Given the description of an element on the screen output the (x, y) to click on. 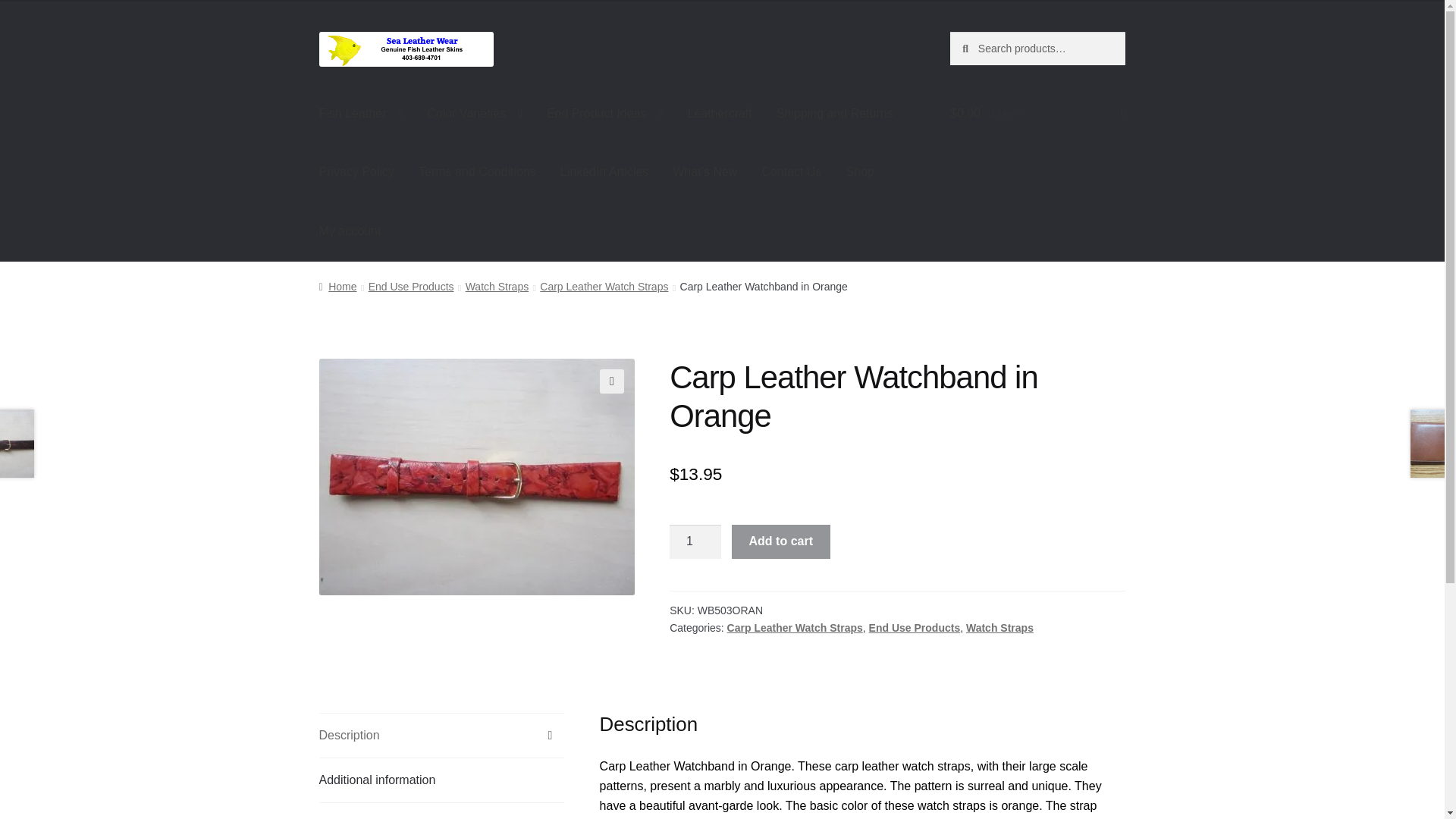
View your shopping cart (1037, 113)
1 (694, 541)
Color Varieties (474, 113)
End Product Ideas (604, 113)
LinkedIn Articles (604, 172)
Terms and Conditions (477, 172)
Contact Us (790, 172)
carp-watchband-orange-700.jpg (476, 476)
Shipping and Returns (834, 113)
Privacy Policy (357, 172)
My account (350, 231)
Leathercraft (718, 113)
Fish Leather (360, 113)
